Given the description of an element on the screen output the (x, y) to click on. 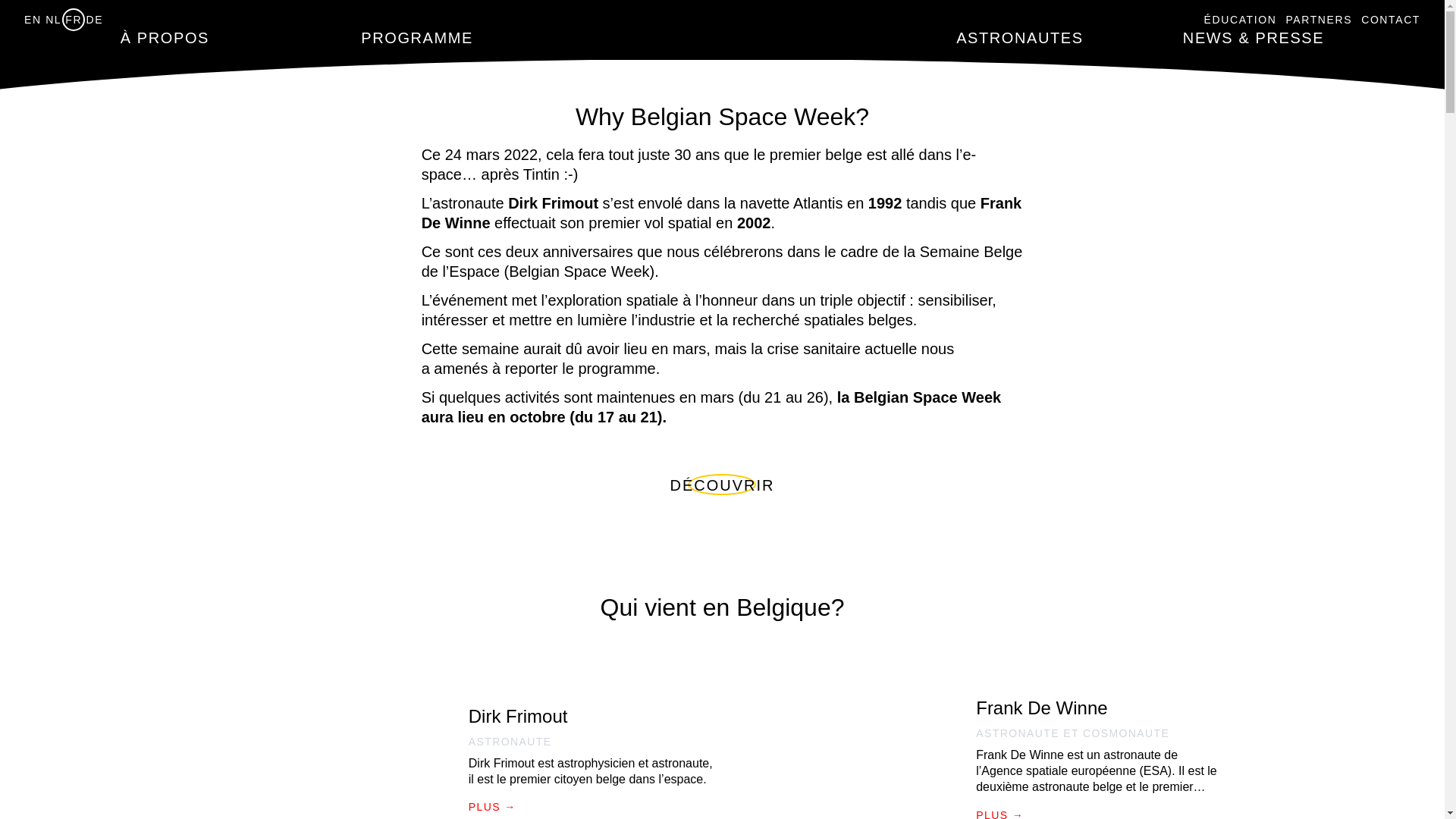
PROGRAMME Element type: text (416, 37)
DE Element type: text (94, 19)
FR Element type: text (73, 19)
ASTRONAUTES Element type: text (1019, 37)
EN Element type: text (32, 19)
NL Element type: text (53, 19)
PARTNERS Element type: text (1318, 19)
CONTACT Element type: text (1390, 19)
NEWS & PRESSE Element type: text (1253, 37)
